Given the description of an element on the screen output the (x, y) to click on. 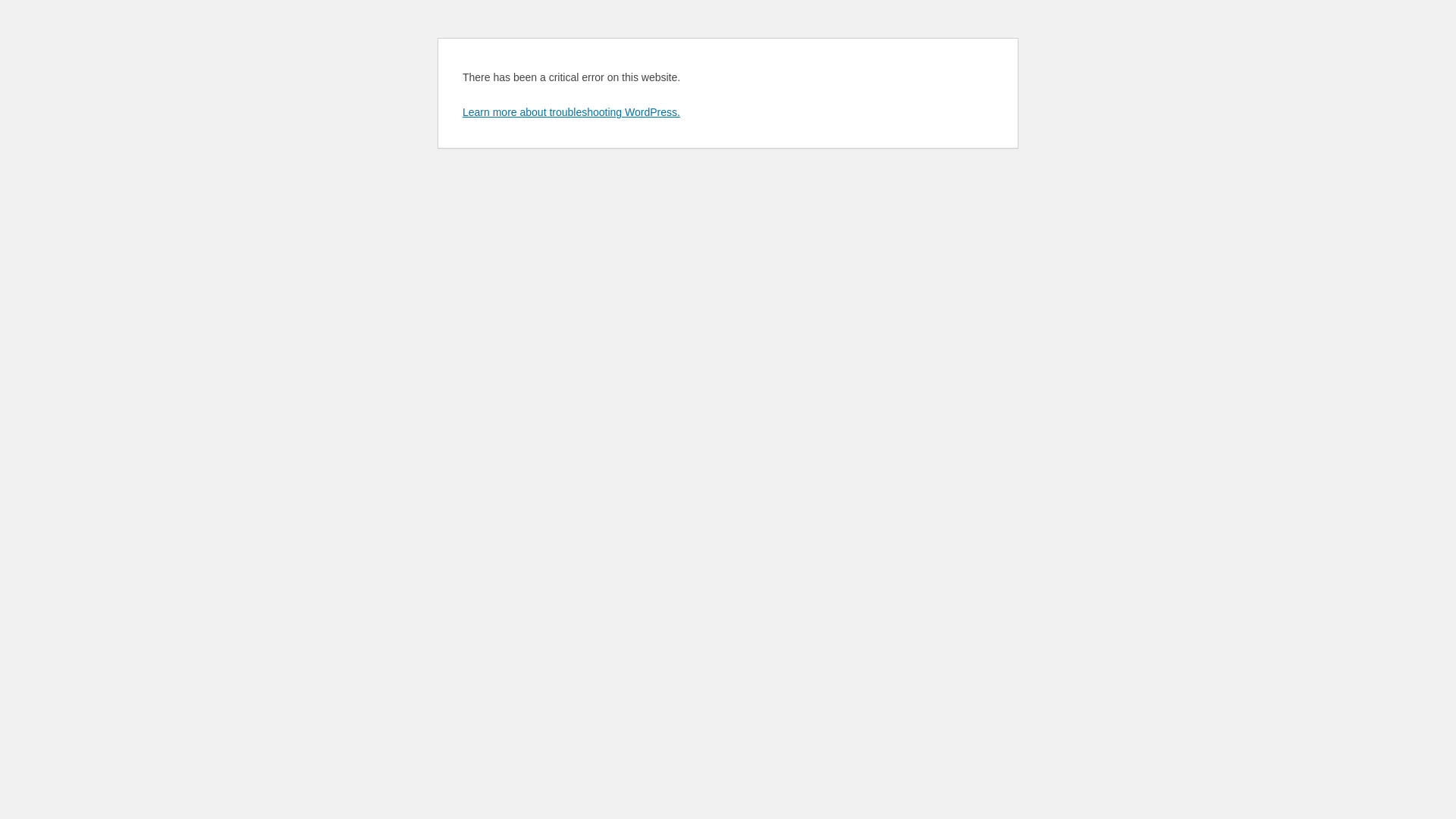
Learn more about troubleshooting WordPress. Element type: text (571, 112)
